Given the description of an element on the screen output the (x, y) to click on. 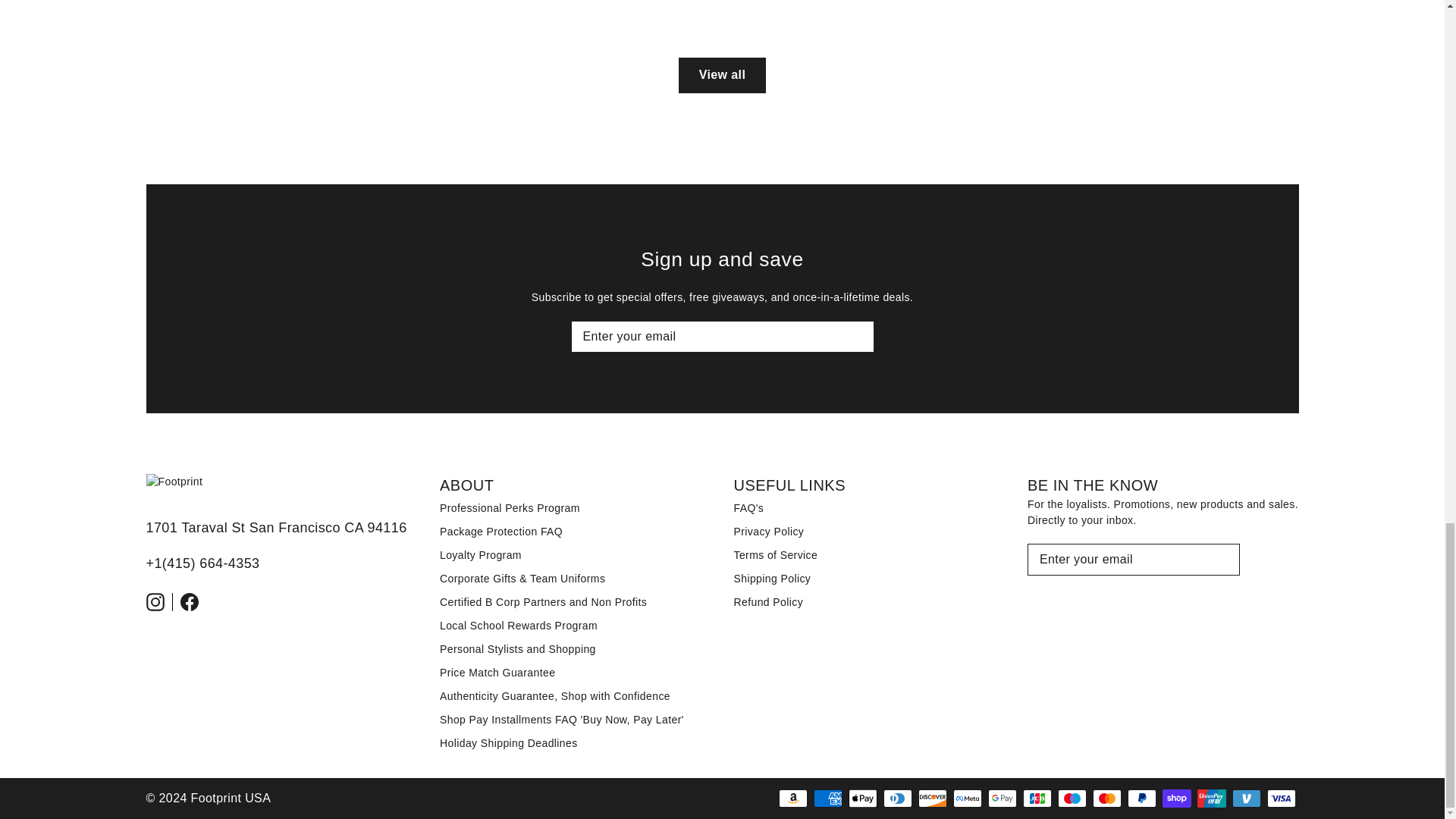
Subscribe (860, 333)
Subscribe (1227, 556)
Footprint USA on Instagram (158, 601)
Footprint USA on Facebook (193, 601)
